Given the description of an element on the screen output the (x, y) to click on. 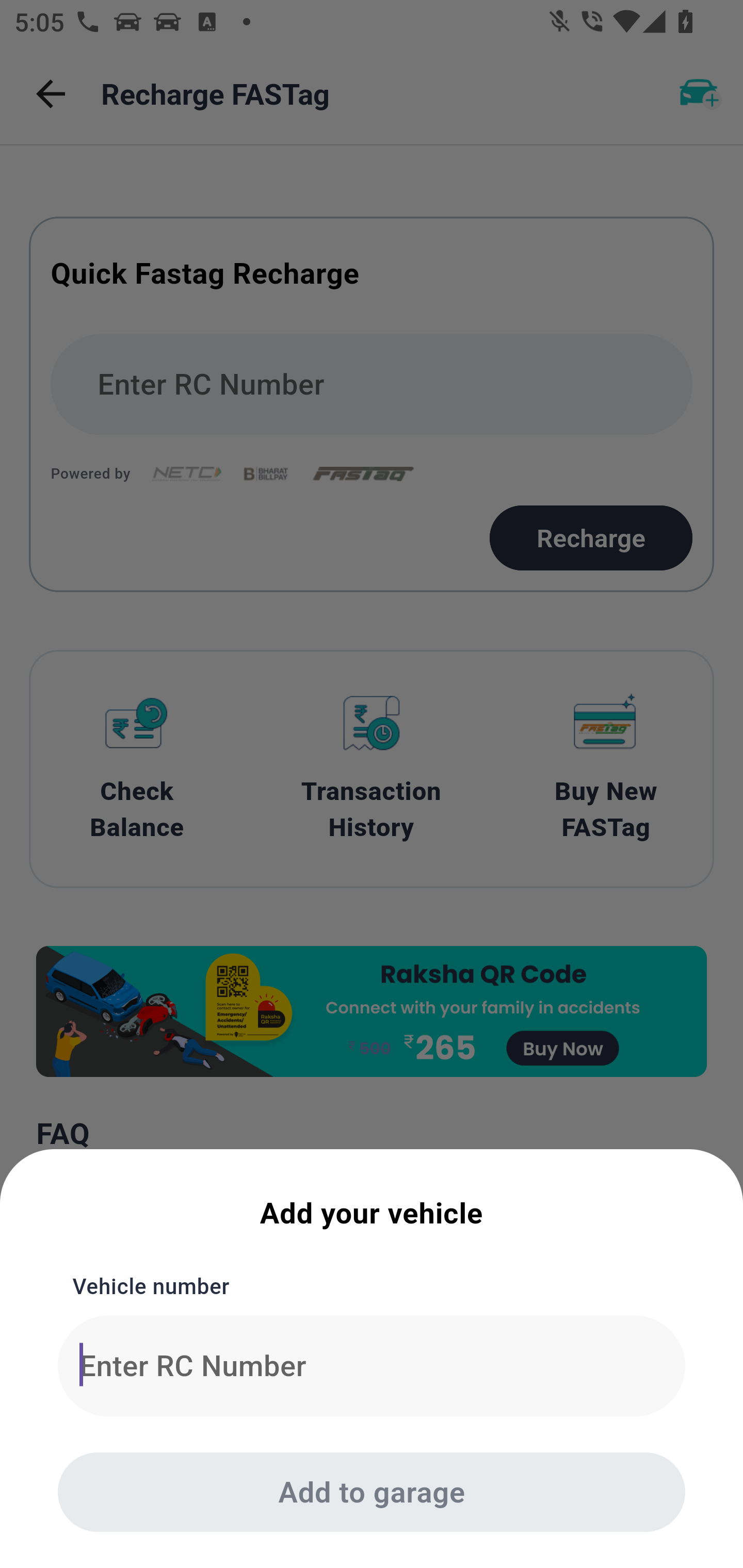
Add to garage (371, 1491)
